Given the description of an element on the screen output the (x, y) to click on. 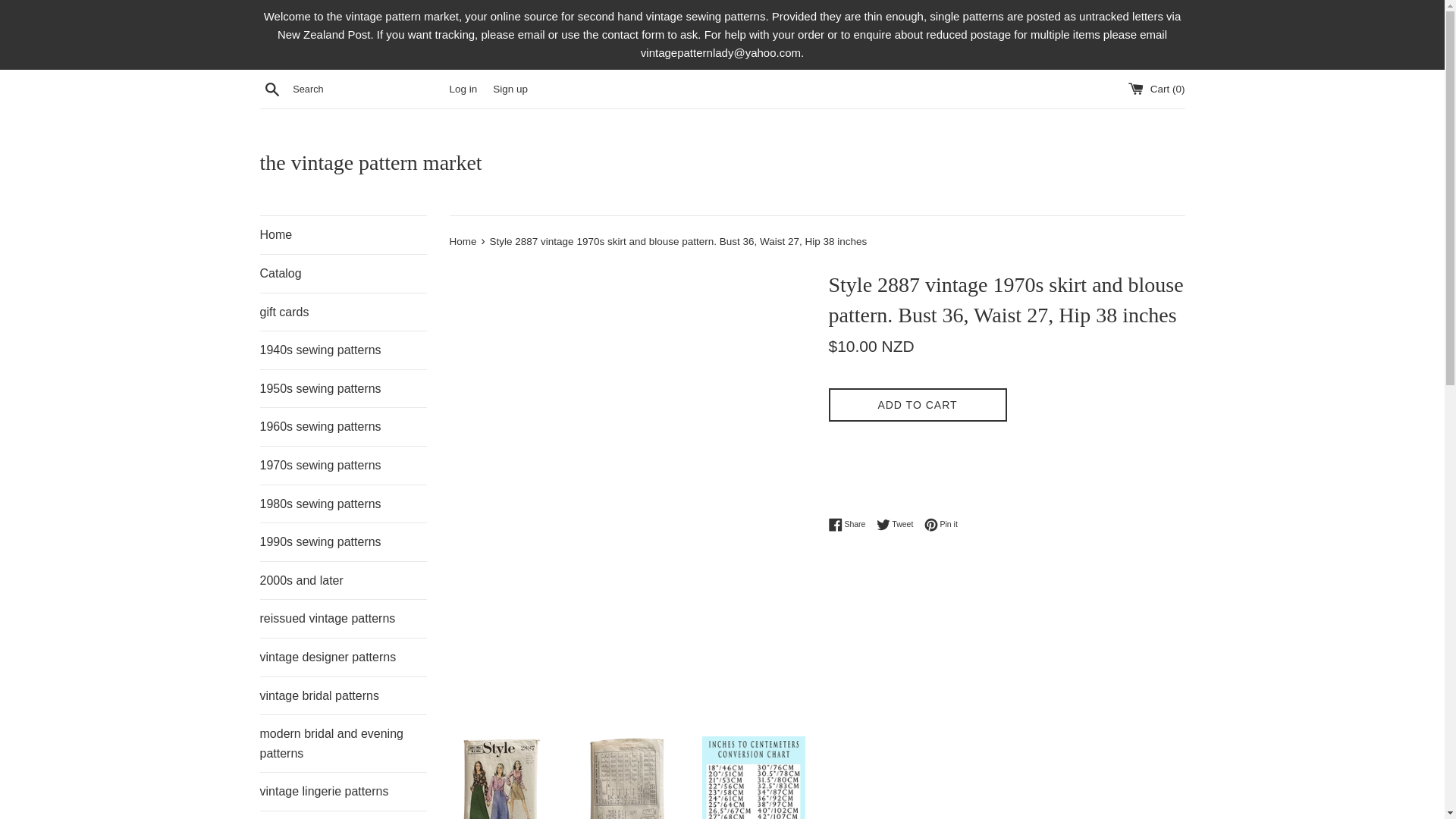
vintage designer patterns (850, 524)
Sign up (342, 657)
Catalog (510, 89)
1990s sewing patterns (342, 273)
2000s and later (342, 542)
vintage lingerie patterns (342, 580)
Tweet on Twitter (342, 791)
Home (898, 524)
Share on Facebook (342, 234)
